Given the description of an element on the screen output the (x, y) to click on. 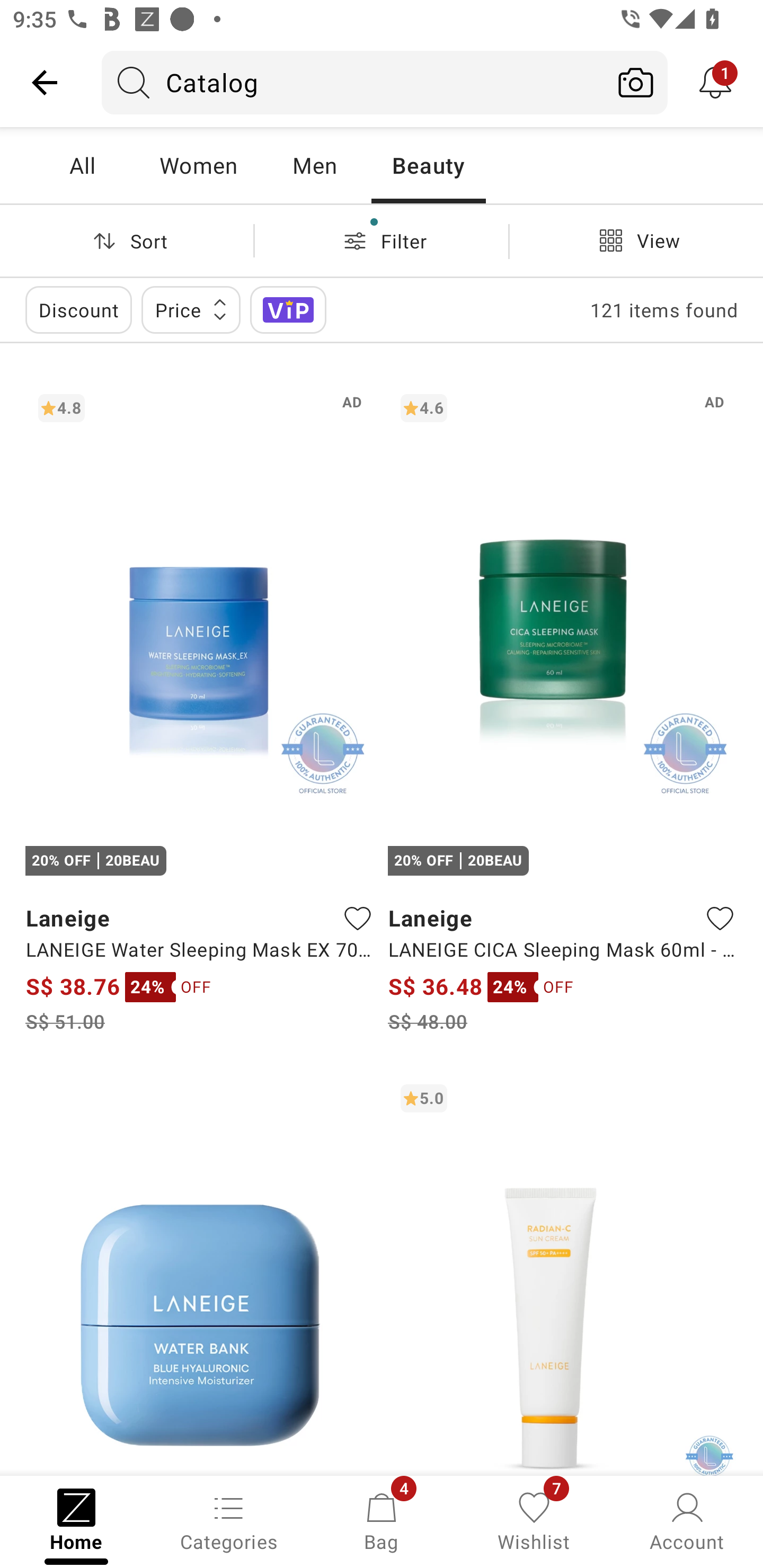
Navigate up (44, 82)
Catalog (352, 82)
All (82, 165)
Women (198, 165)
Men (314, 165)
Sort (126, 240)
Filter (381, 240)
View (636, 240)
Discount (78, 309)
Price (190, 309)
5.0 (562, 1272)
Categories (228, 1519)
Bag, 4 new notifications Bag (381, 1519)
Wishlist, 7 new notifications Wishlist (533, 1519)
Account (686, 1519)
